Given the description of an element on the screen output the (x, y) to click on. 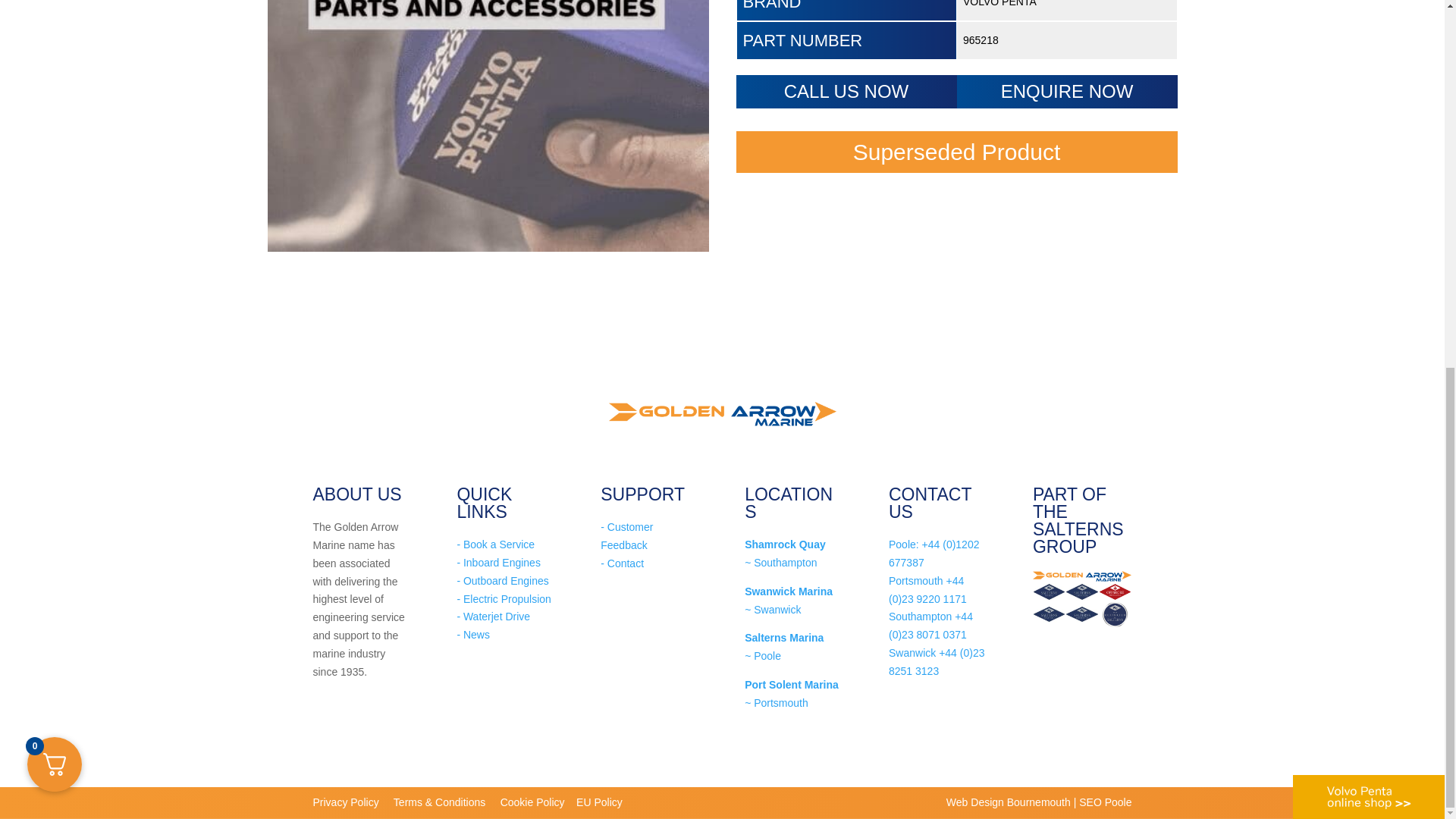
EMail-logo-1024x119 (1081, 576)
logo white (1368, 133)
